Given the description of an element on the screen output the (x, y) to click on. 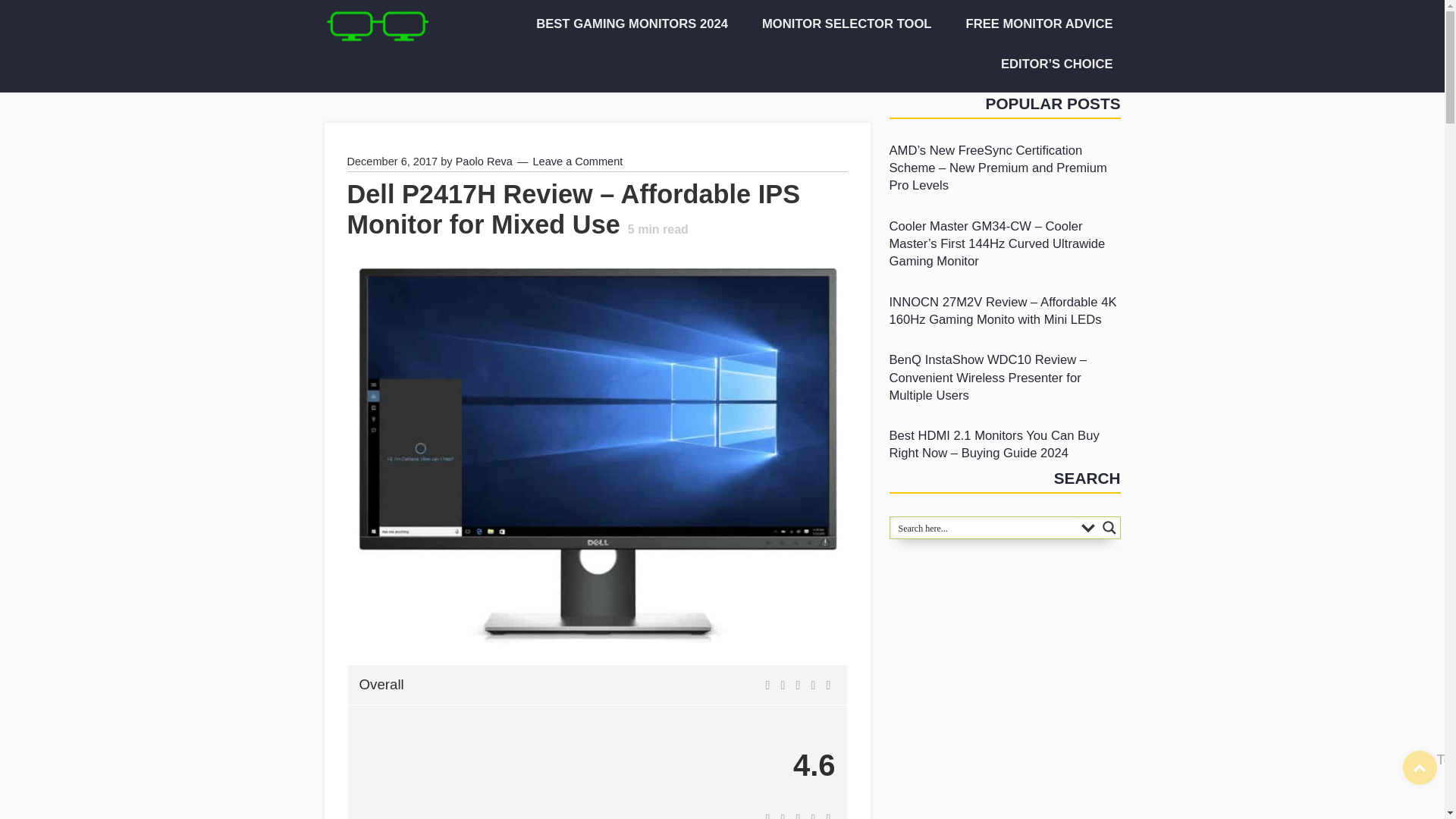
Back To Top (1420, 767)
BEST GAMING MONITORS 2024 (626, 24)
Free Gaming Monitor Advice Service (1033, 24)
Top (1420, 767)
Leave a Comment (577, 161)
MONITOR SELECTOR TOOL (841, 24)
Paolo Reva (483, 161)
FREE MONITOR ADVICE (1033, 24)
